Given the description of an element on the screen output the (x, y) to click on. 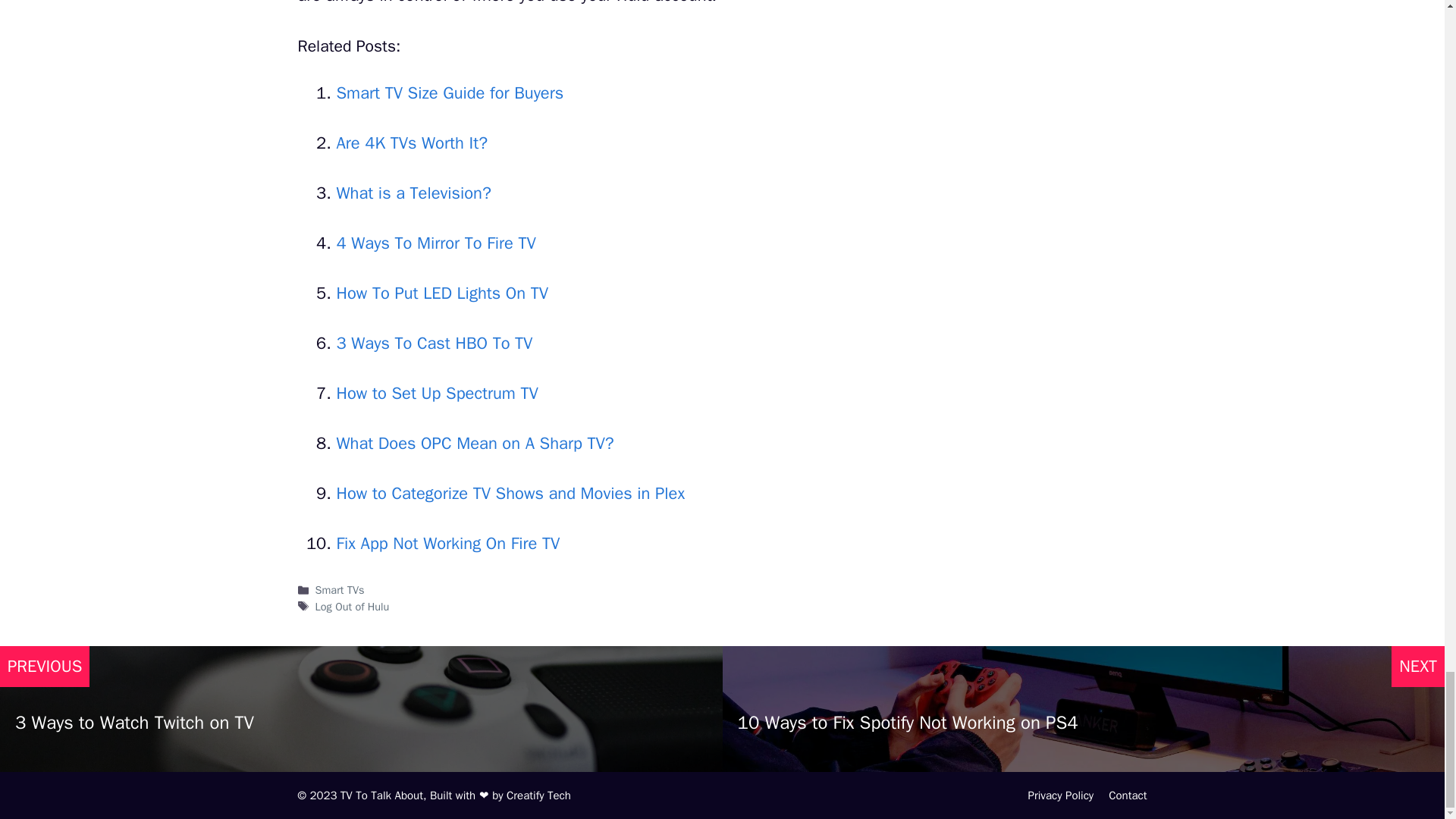
Smart TV Size Guide for Buyers (450, 93)
Are 4K TVs Worth It? (411, 142)
Smart TVs (340, 590)
How To Put LED Lights On TV (442, 292)
What is a Television? (414, 192)
Are 4K TVs Worth It? (411, 142)
3 Ways To Cast HBO To TV (434, 342)
Fix App Not Working On Fire TV (448, 543)
3 Ways to Watch Twitch on TV (133, 722)
